Given the description of an element on the screen output the (x, y) to click on. 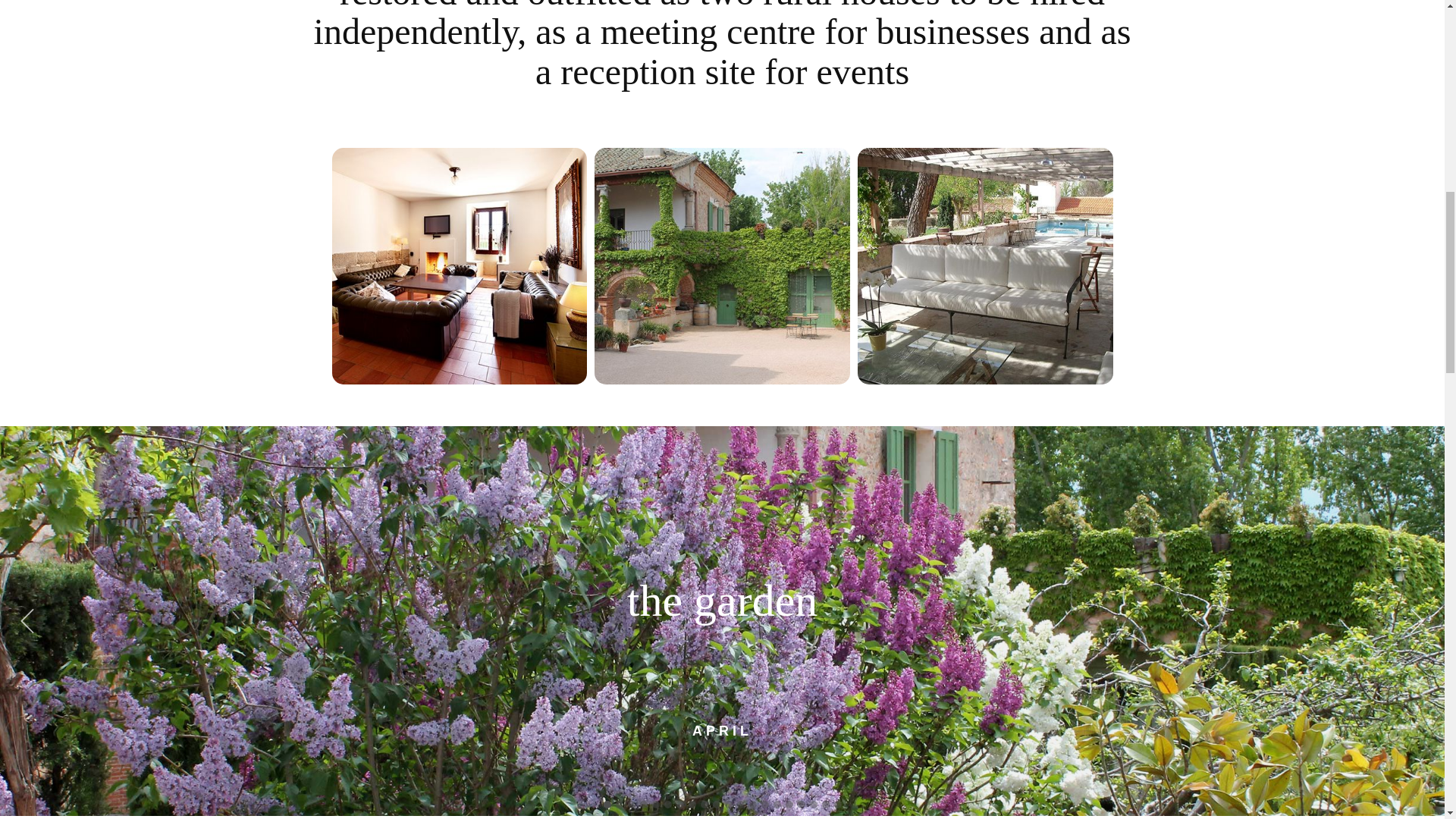
ALA DE NACIENTE (459, 266)
ESPACIOS LIBRES (985, 266)
ALA DE PONIENTE (722, 266)
